Given the description of an element on the screen output the (x, y) to click on. 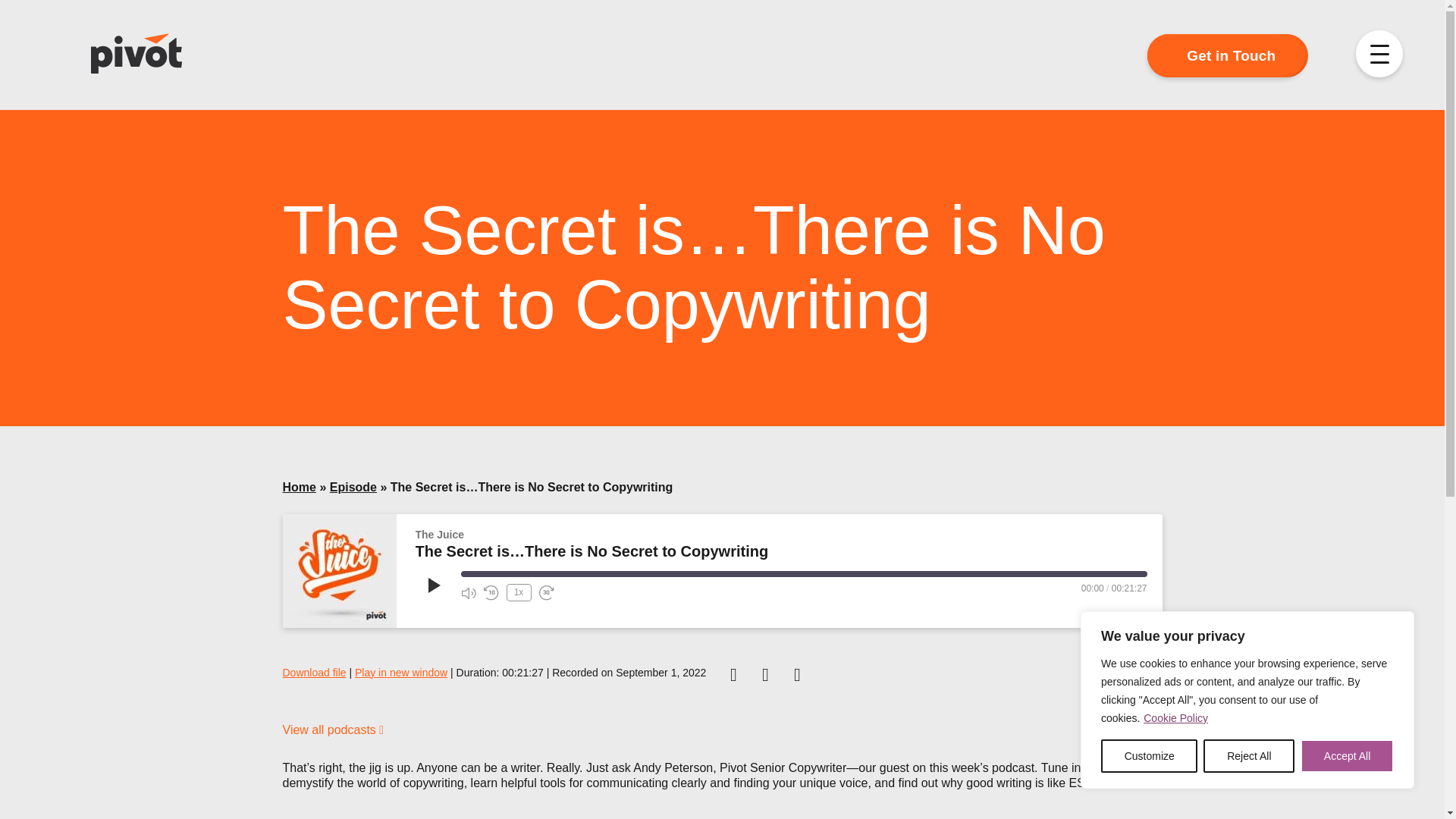
Accept All (1346, 756)
Play (431, 584)
Subscribe (488, 614)
Rewind 10 seconds (491, 592)
The Juice (339, 571)
Cookie Policy (1175, 717)
Fast Forward 30 seconds (545, 592)
Reject All (1249, 756)
Get in Touch (1227, 55)
